Given the description of an element on the screen output the (x, y) to click on. 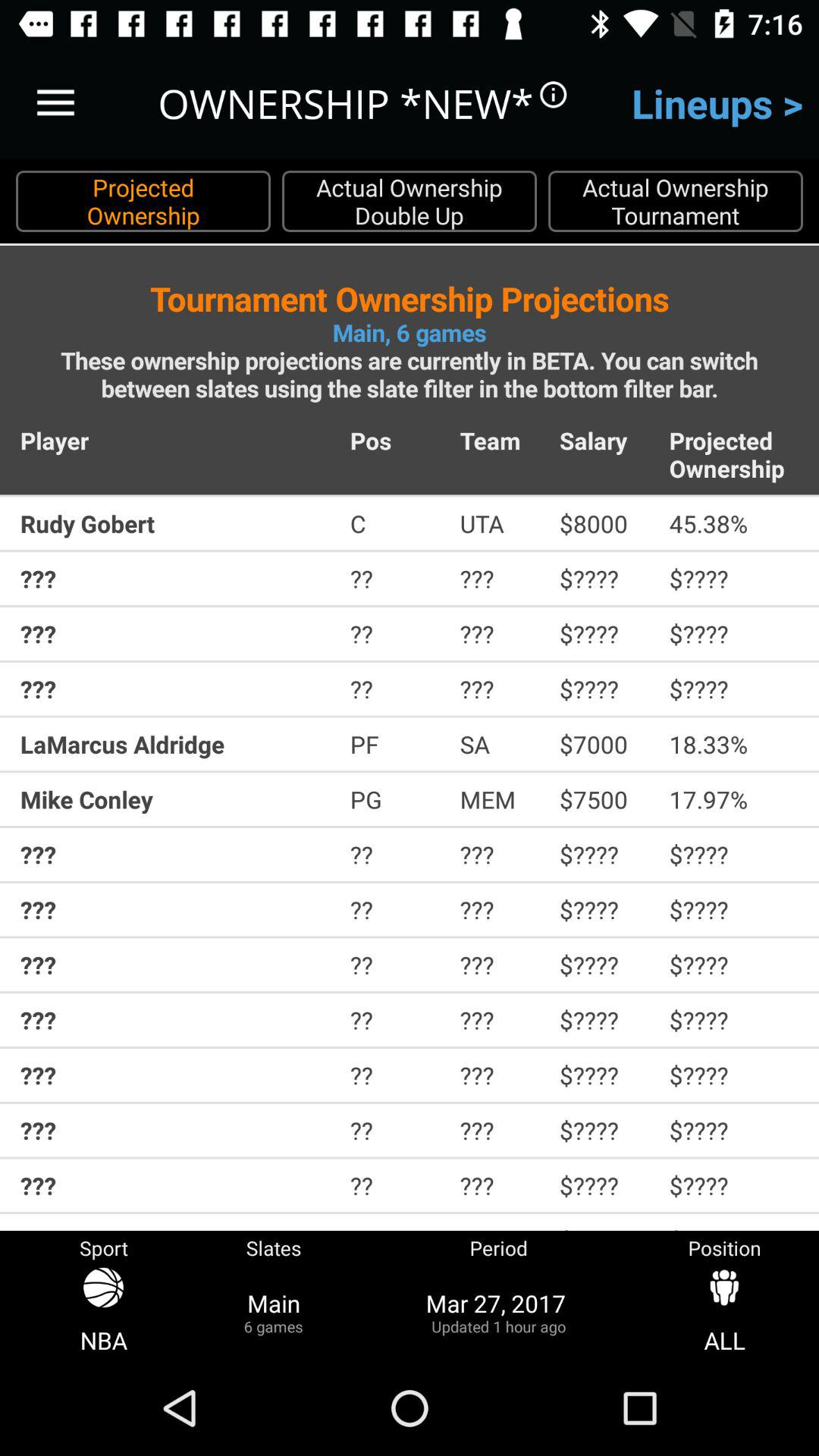
jump until $7000 icon (604, 744)
